Given the description of an element on the screen output the (x, y) to click on. 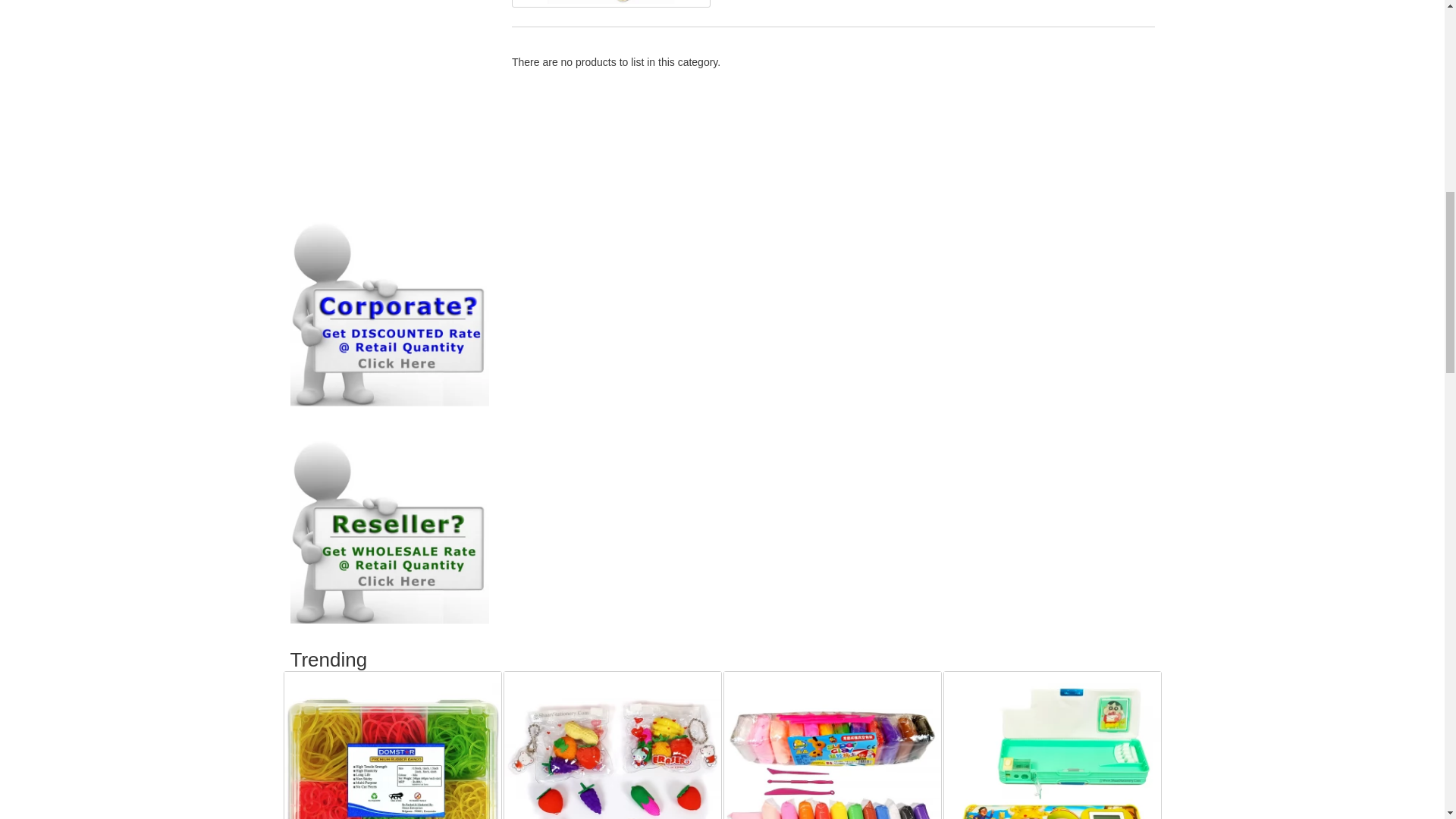
Geometry Set (611, 3)
